Given the description of an element on the screen output the (x, y) to click on. 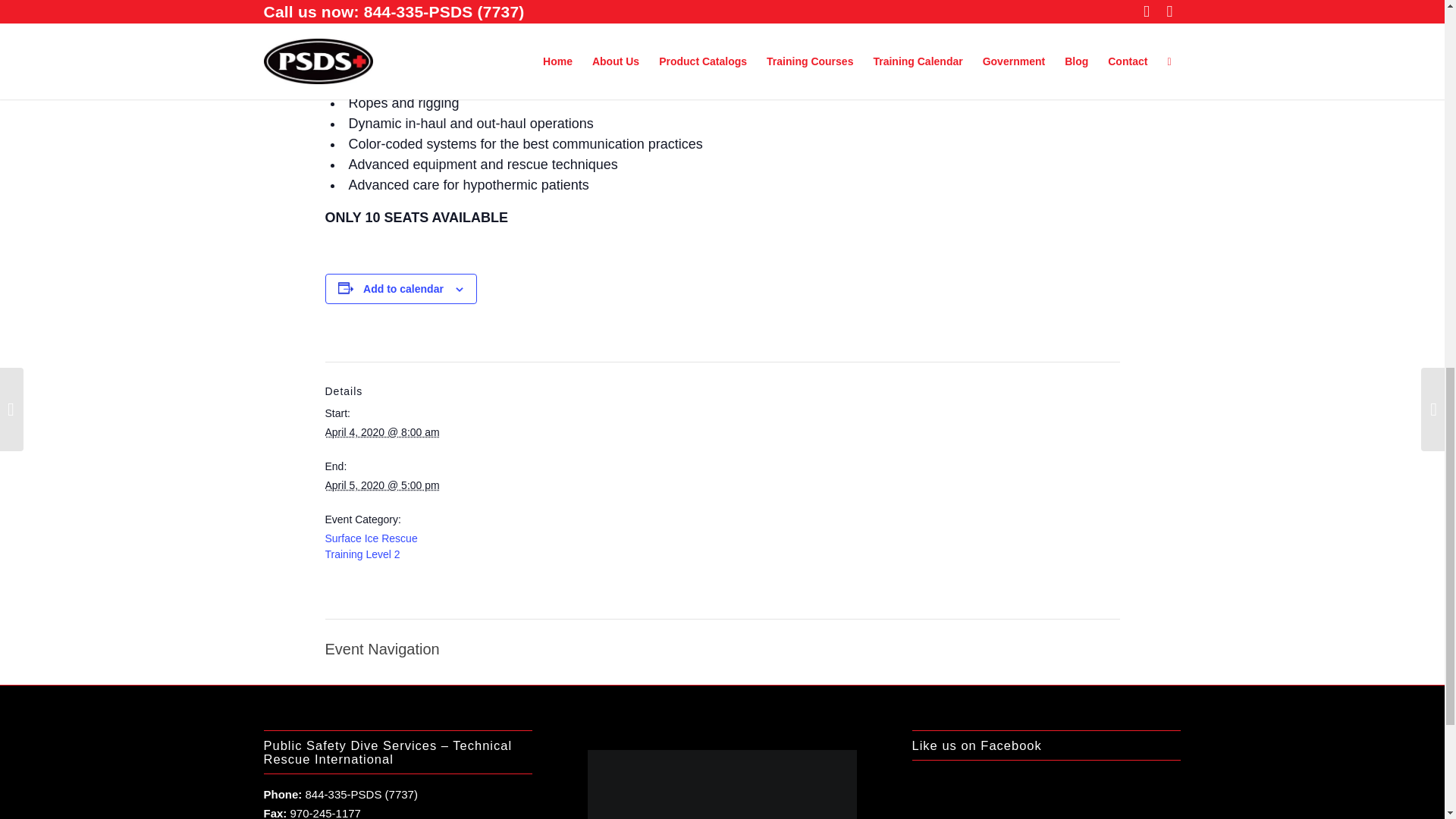
Add to calendar (403, 288)
2020-04-05 (381, 485)
2020-04-04 (381, 431)
